Given the description of an element on the screen output the (x, y) to click on. 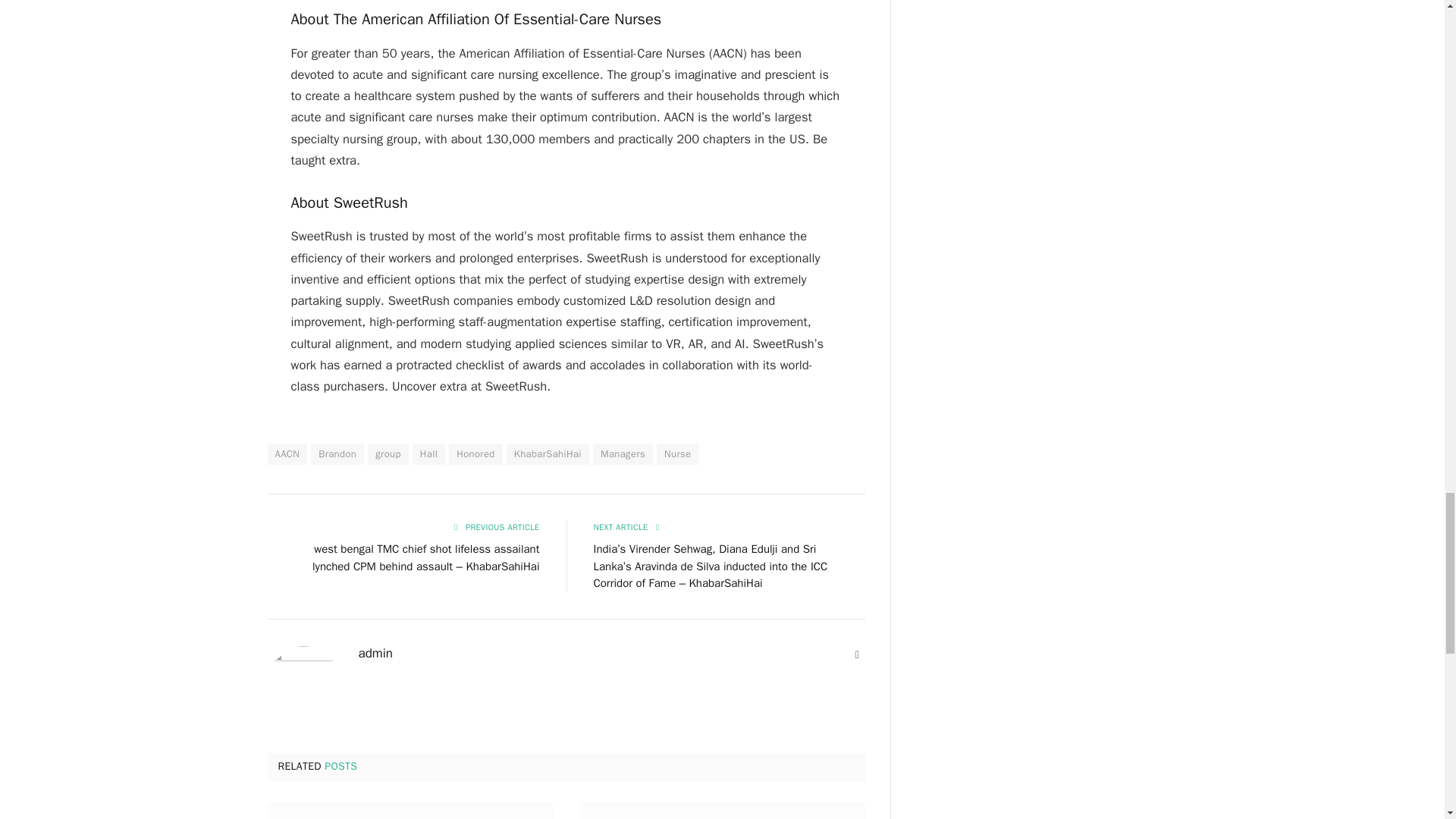
Brandon (337, 454)
group (388, 454)
Posts by admin (375, 653)
Honored (475, 454)
Hall (428, 454)
KhabarSahiHai (547, 454)
Website (856, 654)
AACN (286, 454)
